Given the description of an element on the screen output the (x, y) to click on. 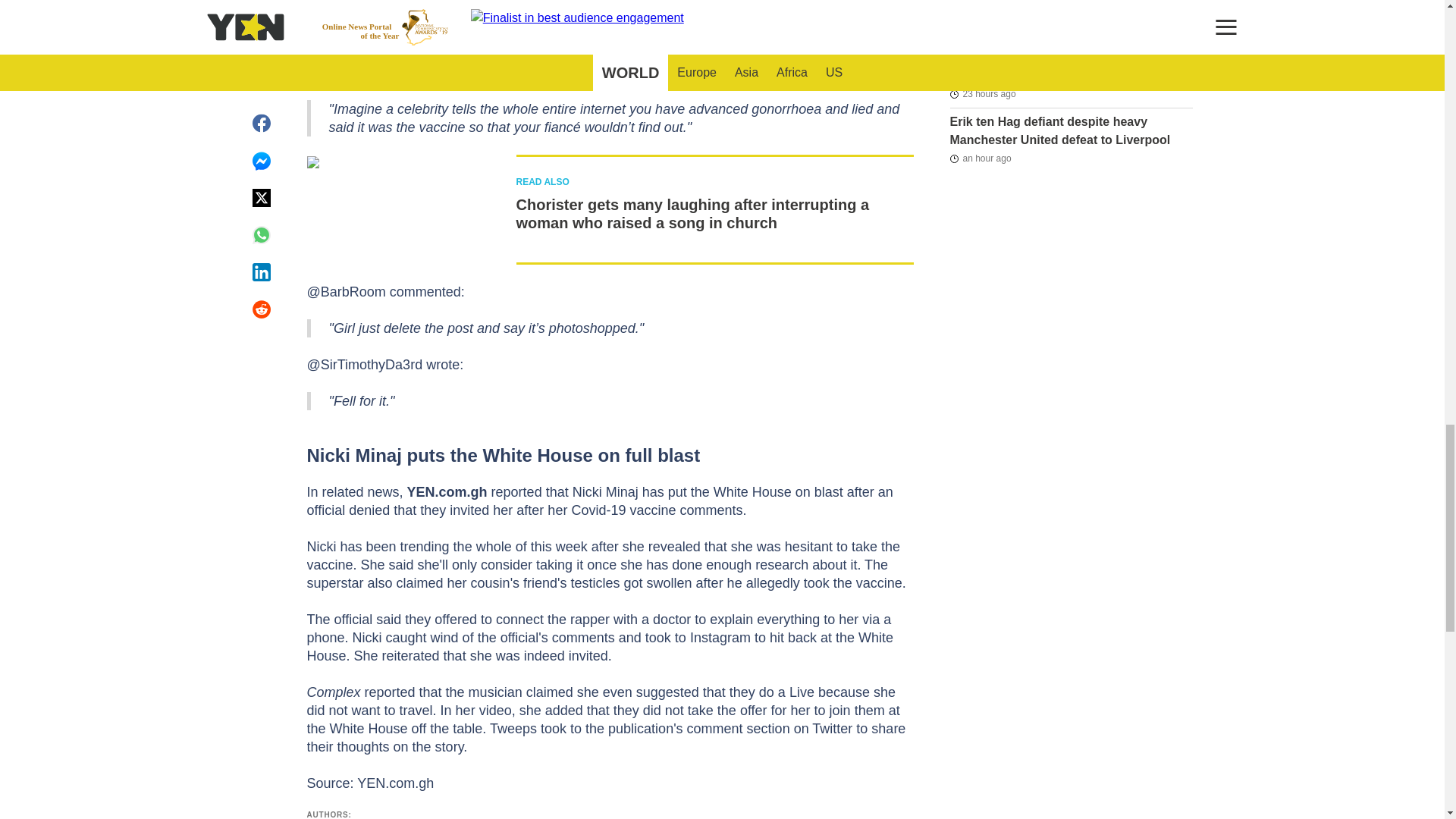
2024-09-02T05:30:27Z (979, 29)
2024-09-02T09:31:34Z (979, 158)
2024-09-01T10:48:24Z (981, 94)
